Given the description of an element on the screen output the (x, y) to click on. 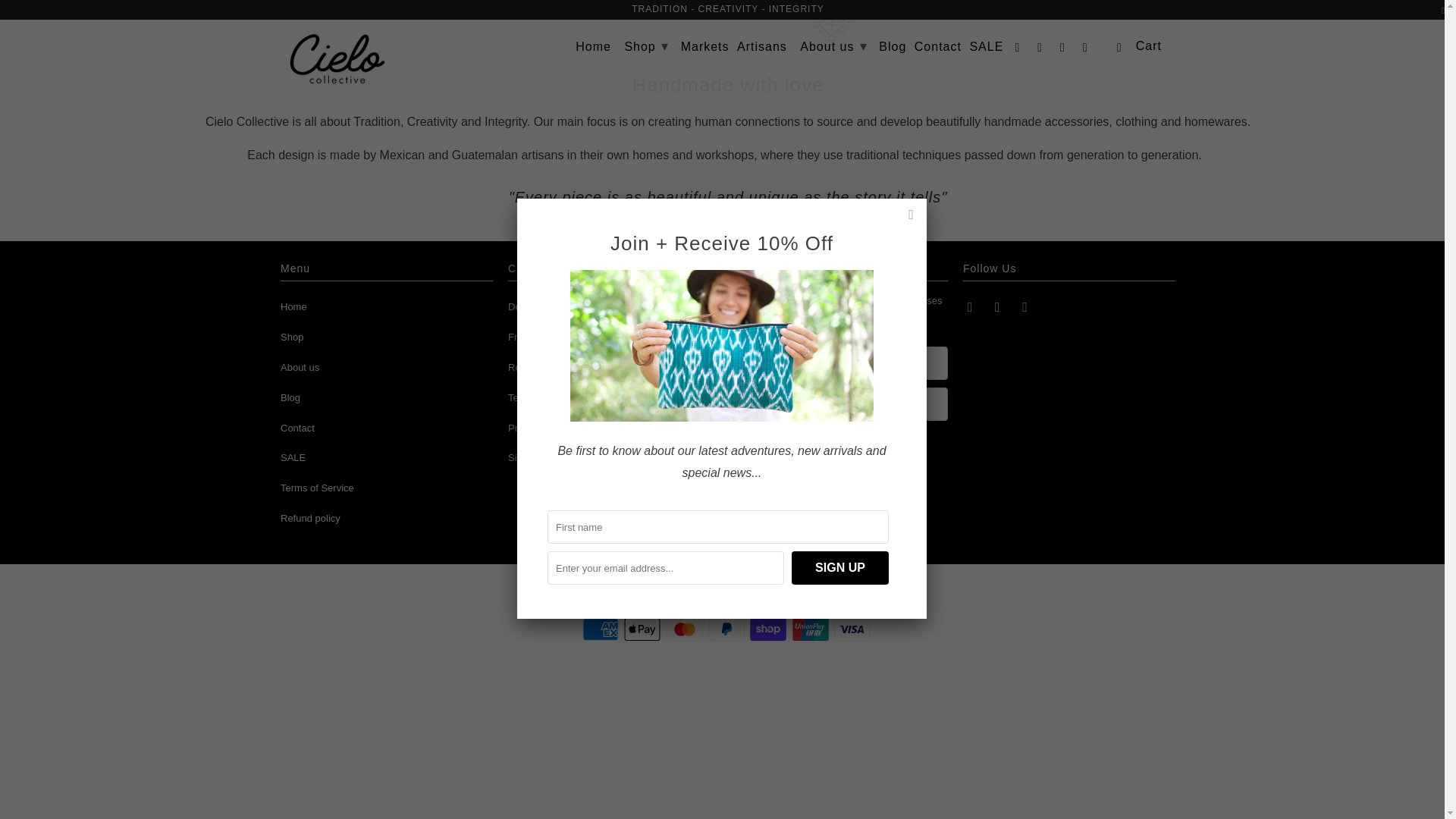
Union Pay (811, 629)
Sign Up (840, 567)
Close (911, 213)
Mastercard (686, 629)
Cielo Collective on Instagram (1040, 49)
Apple Pay (643, 629)
Cielo Collective on Instagram (998, 305)
Email Cielo Collective (1063, 49)
Cielo Collective (387, 58)
Visa (853, 629)
American Express (601, 629)
Email Cielo Collective (1025, 305)
Sign Up (841, 444)
Search (1085, 49)
PayPal (727, 629)
